Given the description of an element on the screen output the (x, y) to click on. 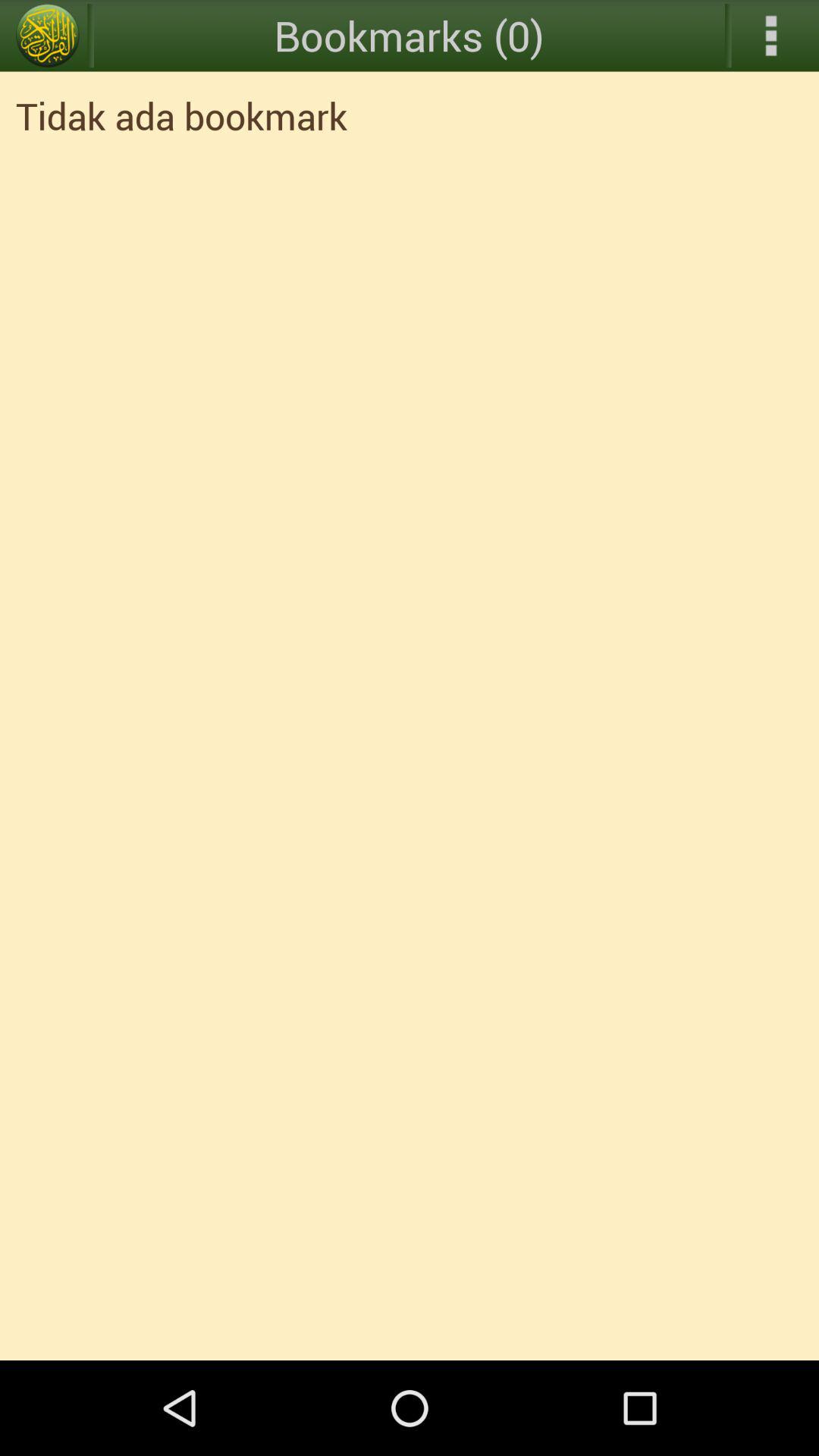
returns to homepage (47, 35)
